Given the description of an element on the screen output the (x, y) to click on. 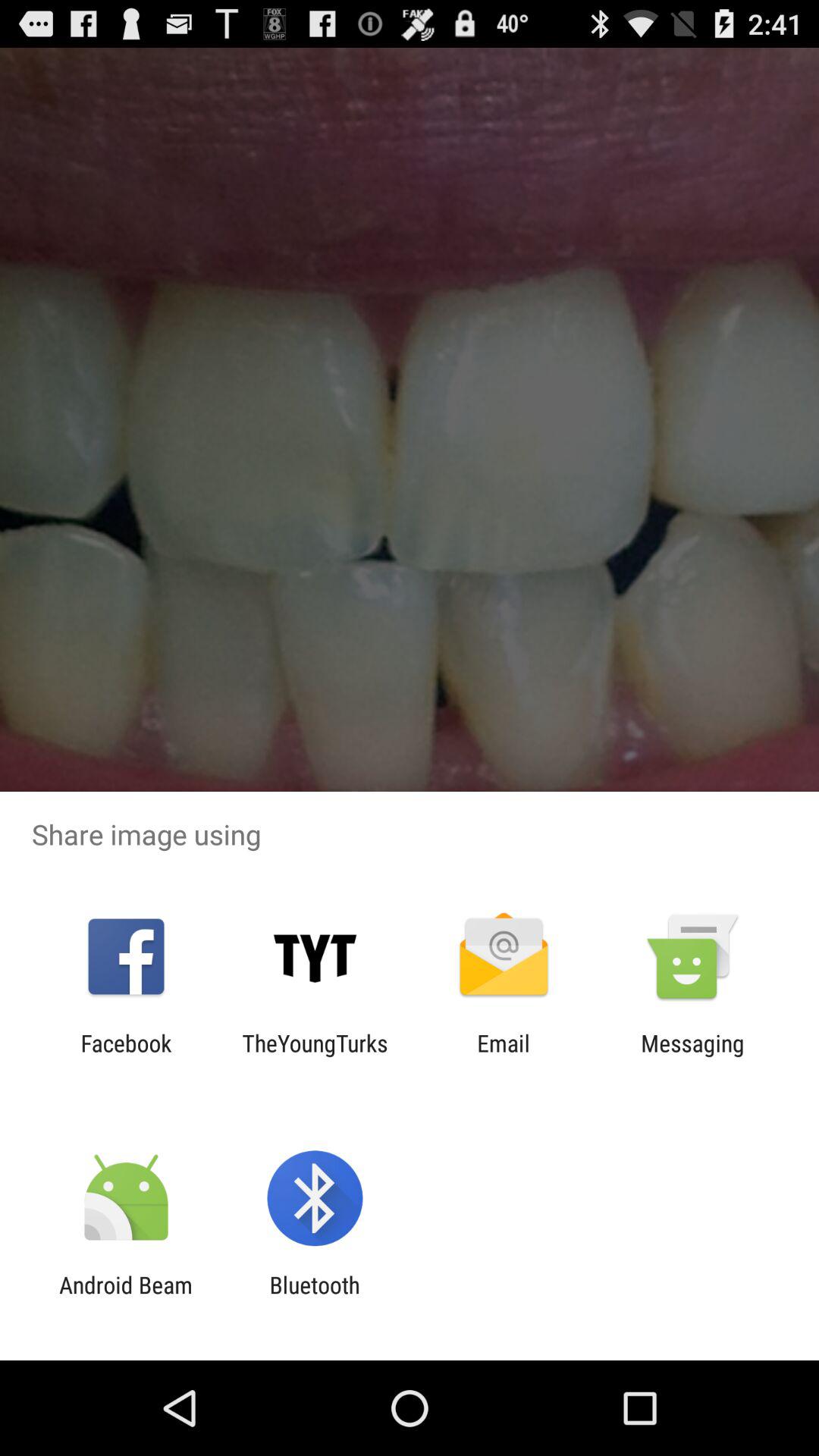
press app to the right of theyoungturks app (503, 1056)
